Given the description of an element on the screen output the (x, y) to click on. 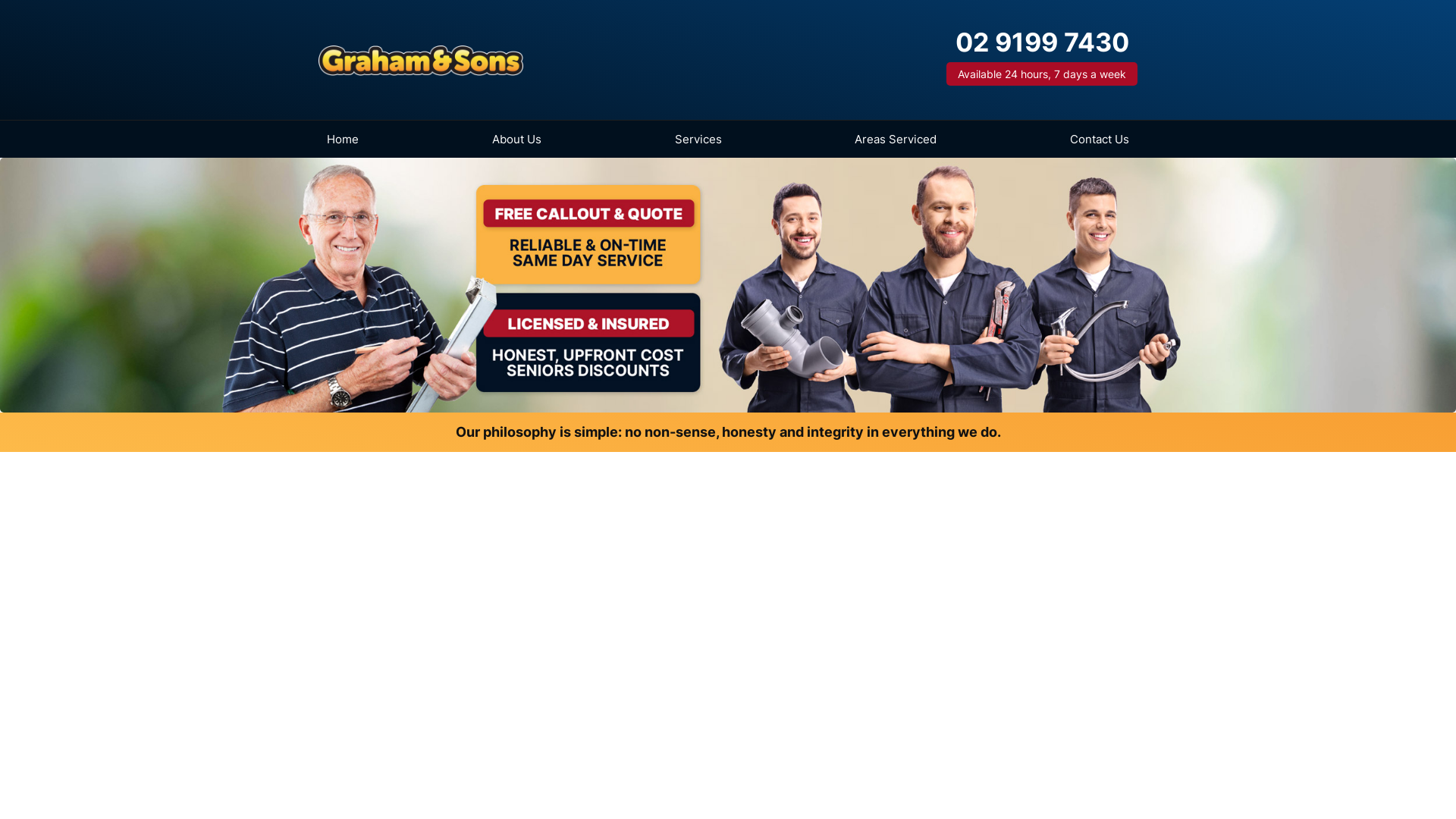
About Us Element type: text (516, 138)
Contact Us Element type: text (1099, 138)
Areas Serviced Element type: text (895, 138)
Services Element type: text (697, 138)
Home Element type: text (342, 138)
02 9199 7430 Element type: text (1041, 42)
